Given the description of an element on the screen output the (x, y) to click on. 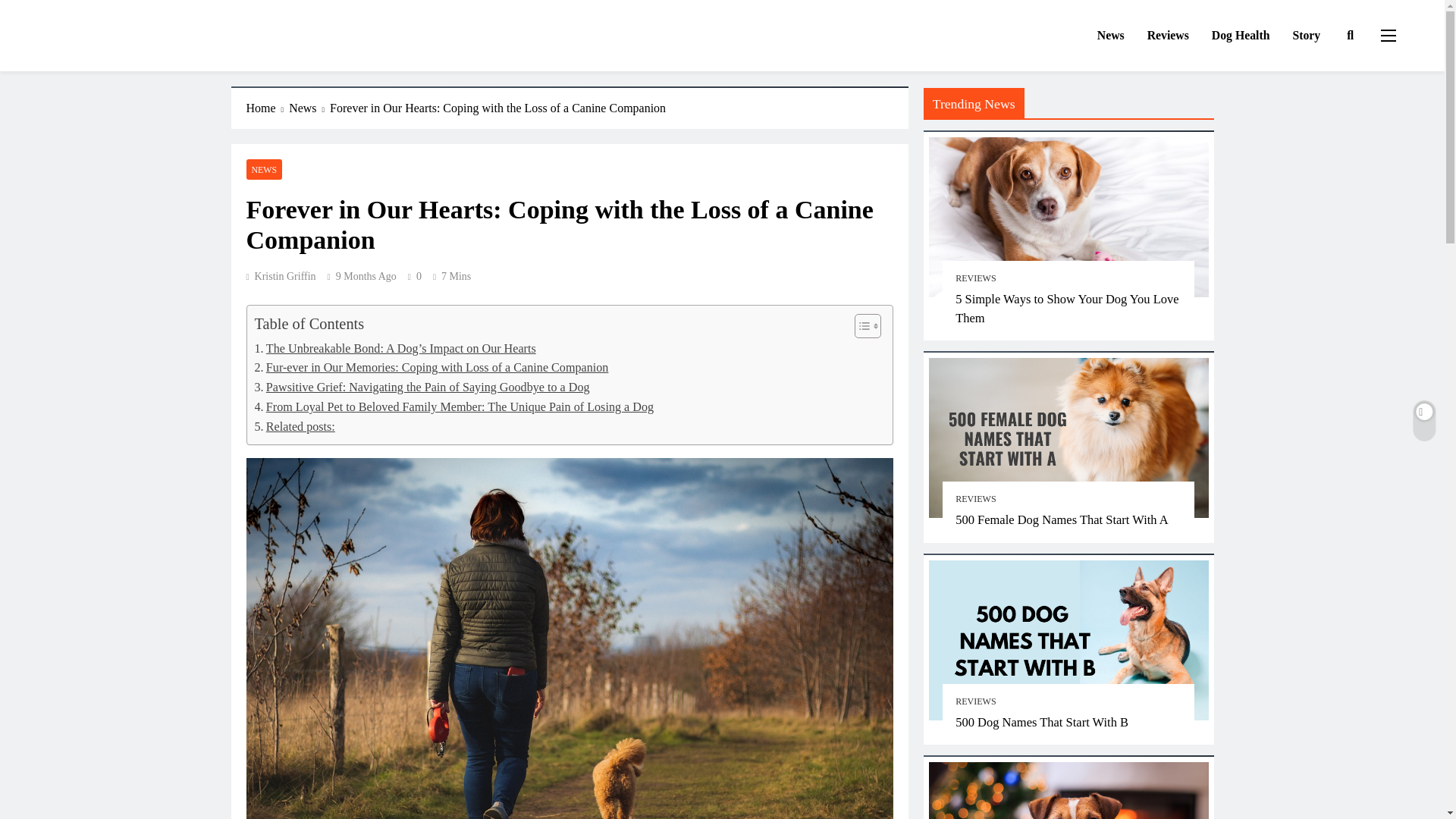
NEWS (264, 168)
Reviews (1167, 35)
5 Simple Ways to Show Your Dog You Love Them (1067, 308)
DogForms (94, 52)
Dog Health (1240, 35)
9 Months Ago (366, 276)
Related posts: (294, 426)
REVIEWS (975, 278)
Kristin Griffin (280, 276)
Story (1306, 35)
